Given the description of an element on the screen output the (x, y) to click on. 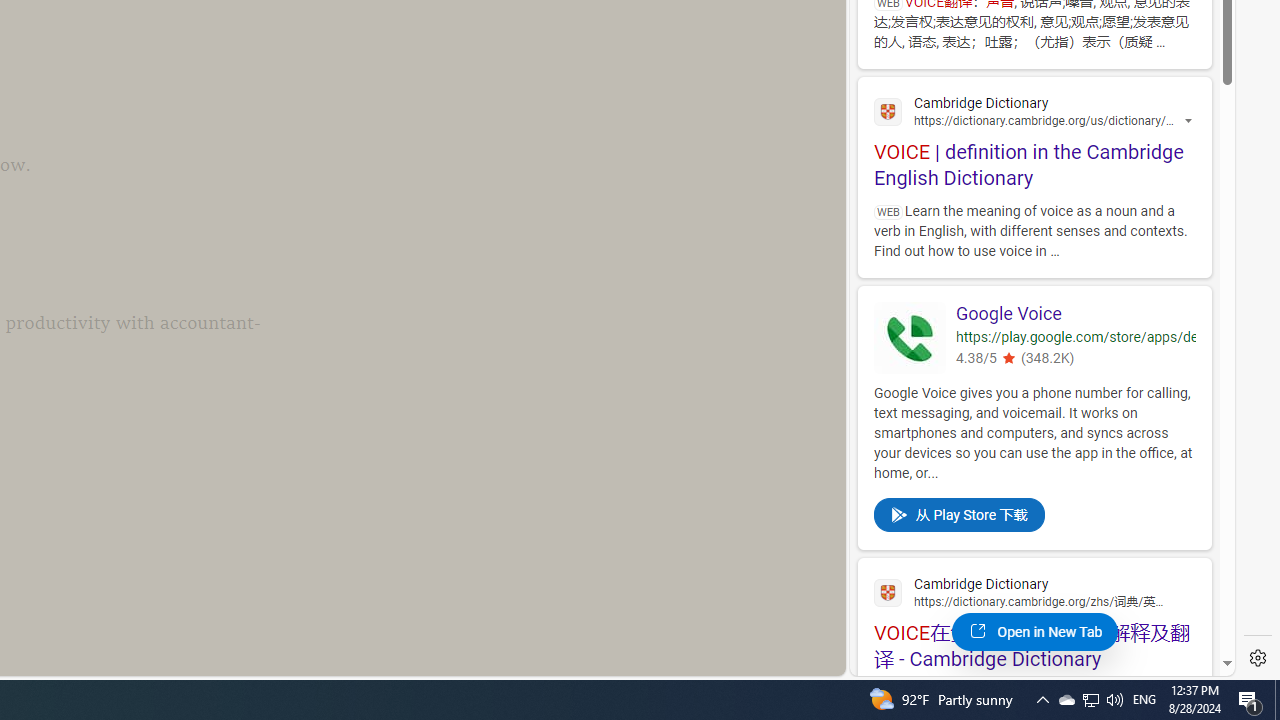
Global web icon (888, 592)
